Given the description of an element on the screen output the (x, y) to click on. 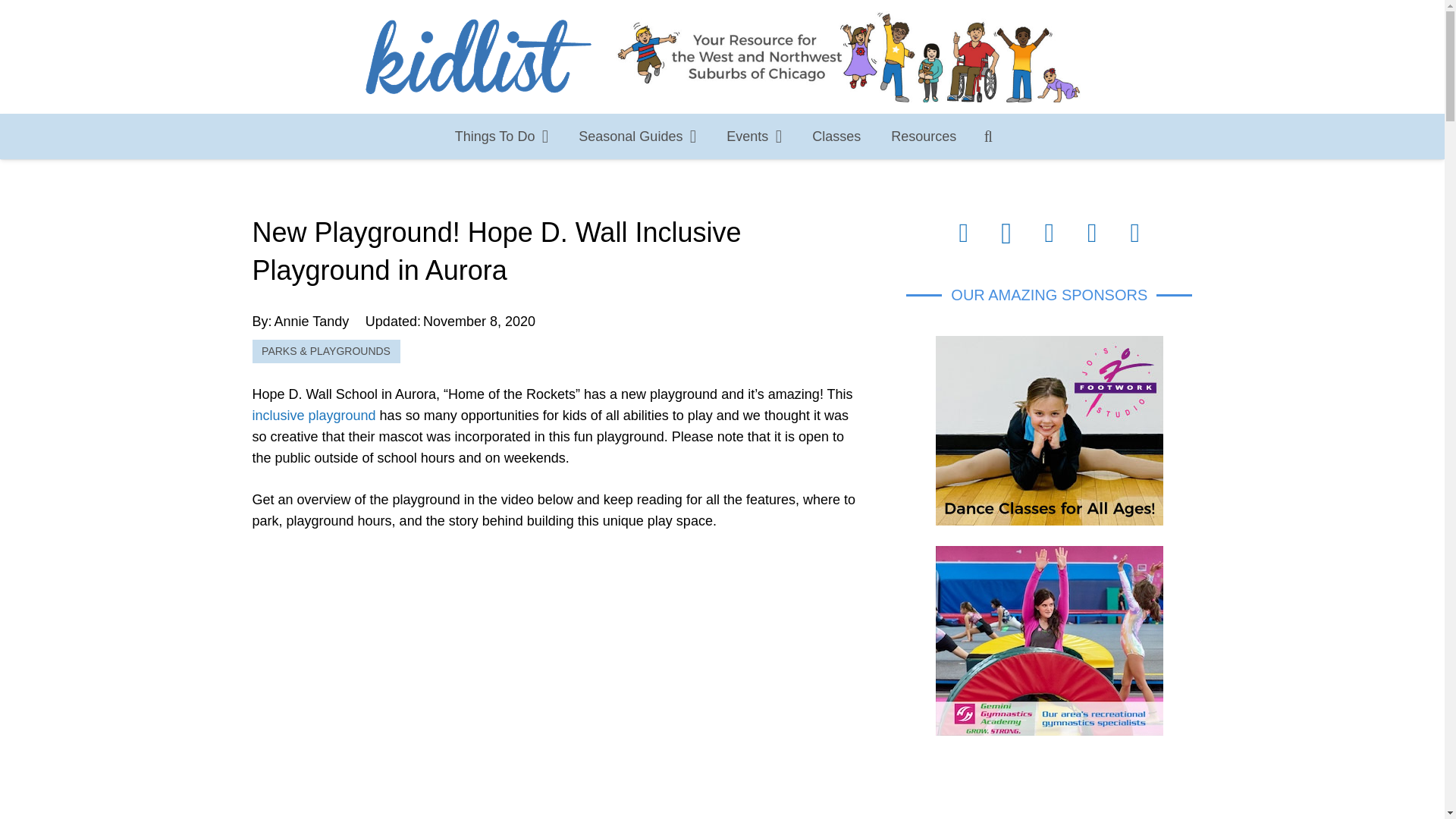
Classes (836, 135)
Events (753, 135)
Things To Do (501, 135)
Annie Tandy (312, 321)
Resources (923, 135)
inclusive playground (313, 415)
Seasonal Guides (637, 135)
